Given the description of an element on the screen output the (x, y) to click on. 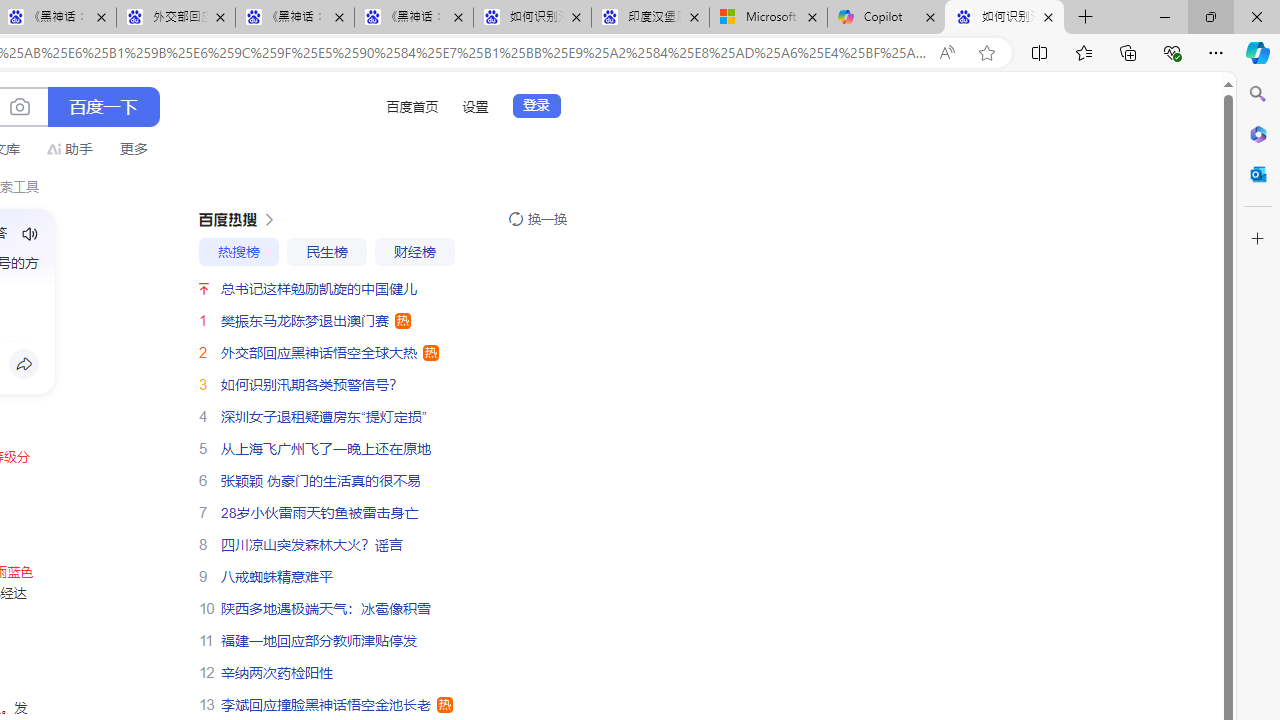
Restore (1210, 16)
